Given the description of an element on the screen output the (x, y) to click on. 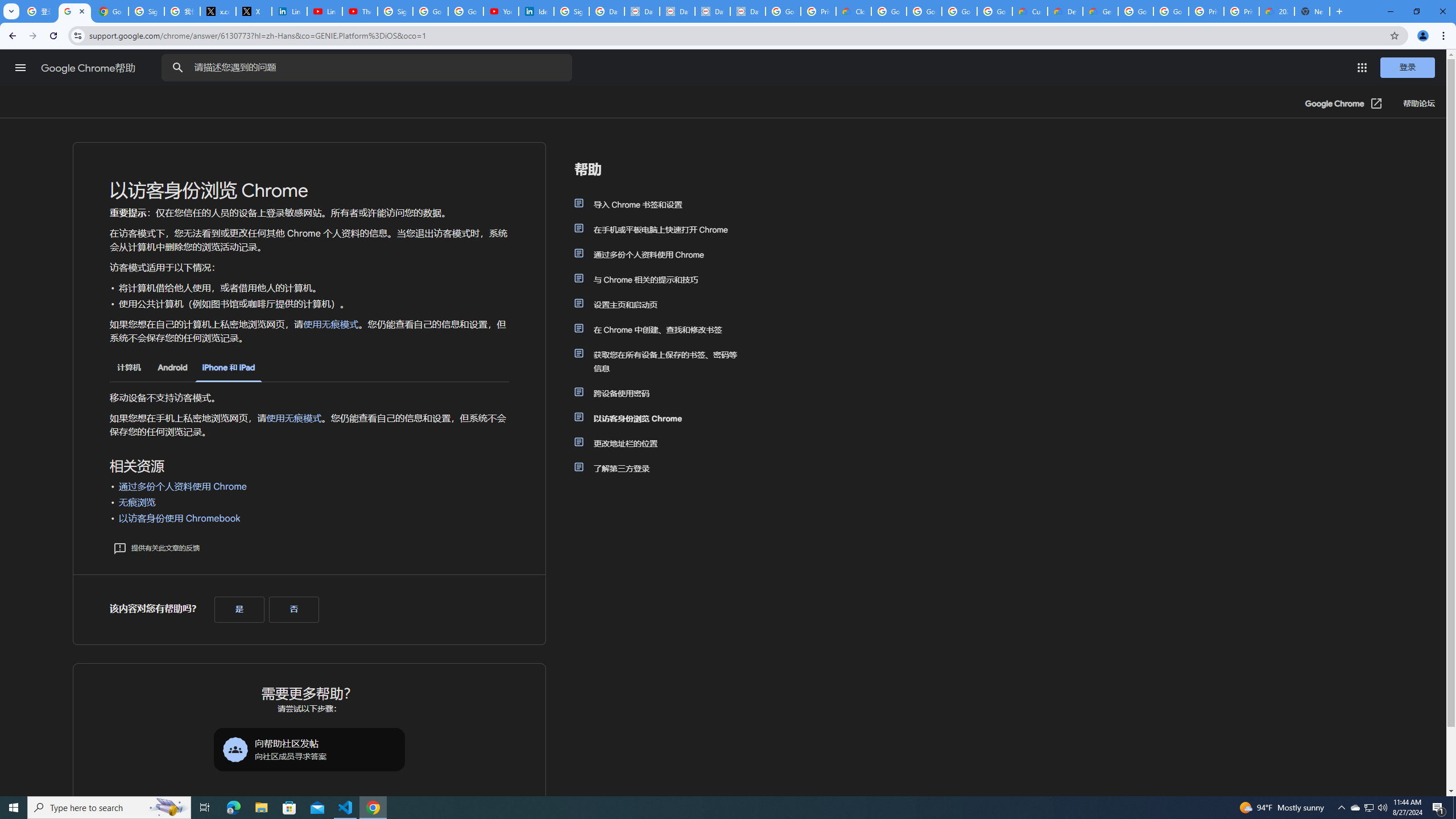
Android (172, 367)
Customer Care | Google Cloud (1029, 11)
Sign in - Google Accounts (145, 11)
